Given the description of an element on the screen output the (x, y) to click on. 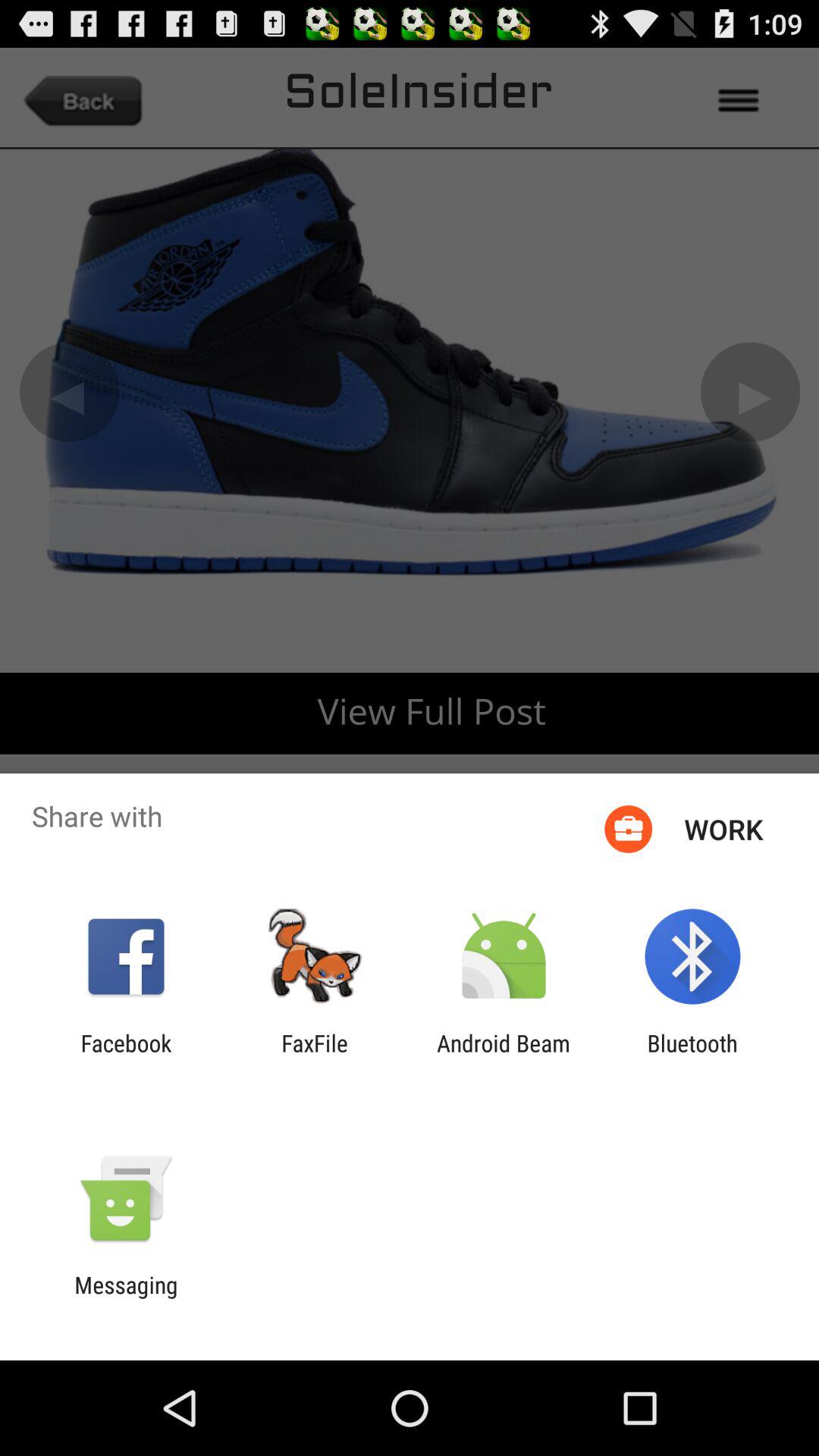
swipe to facebook icon (125, 1056)
